Given the description of an element on the screen output the (x, y) to click on. 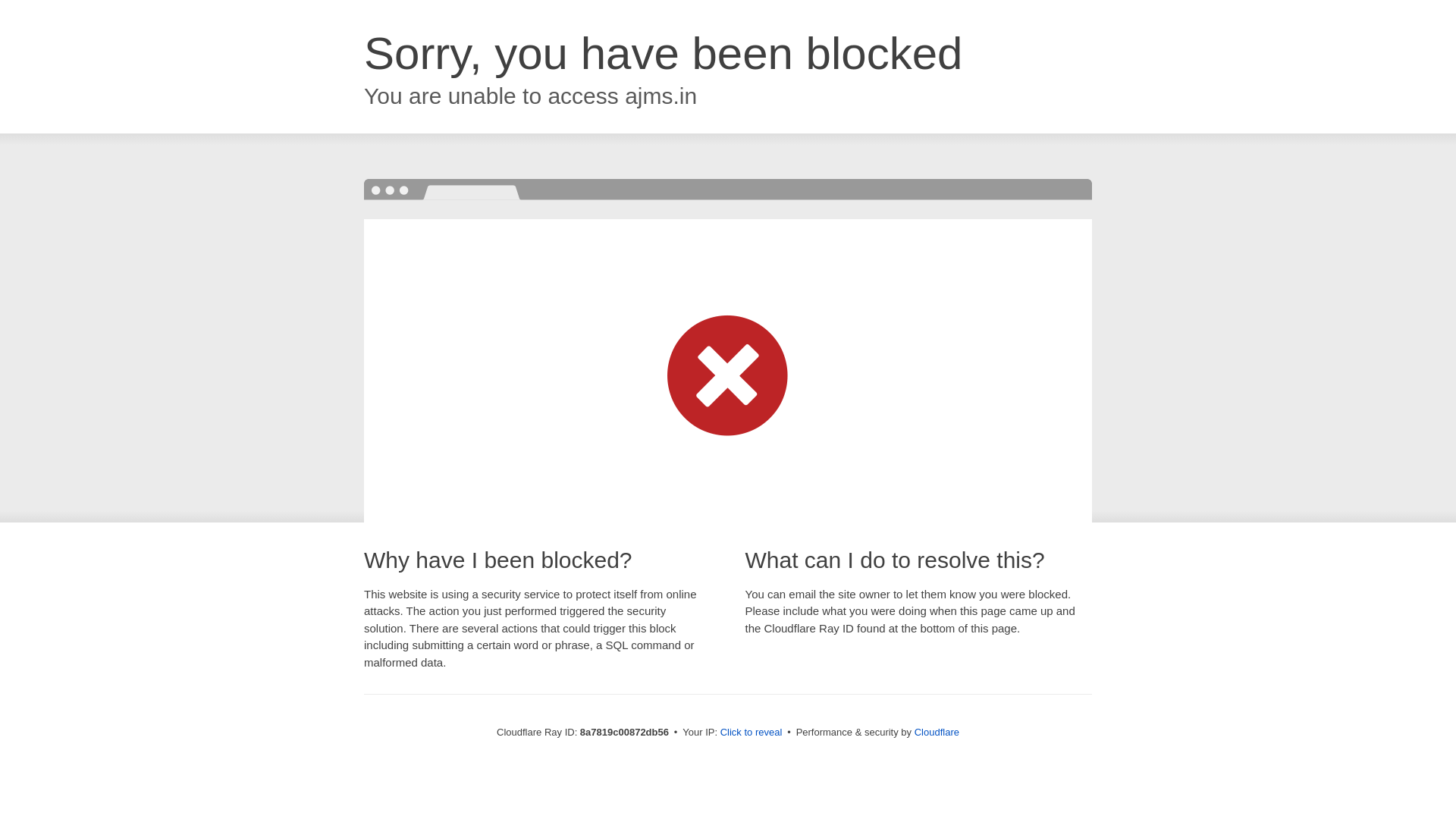
Click to reveal (751, 732)
Cloudflare (936, 731)
